Given the description of an element on the screen output the (x, y) to click on. 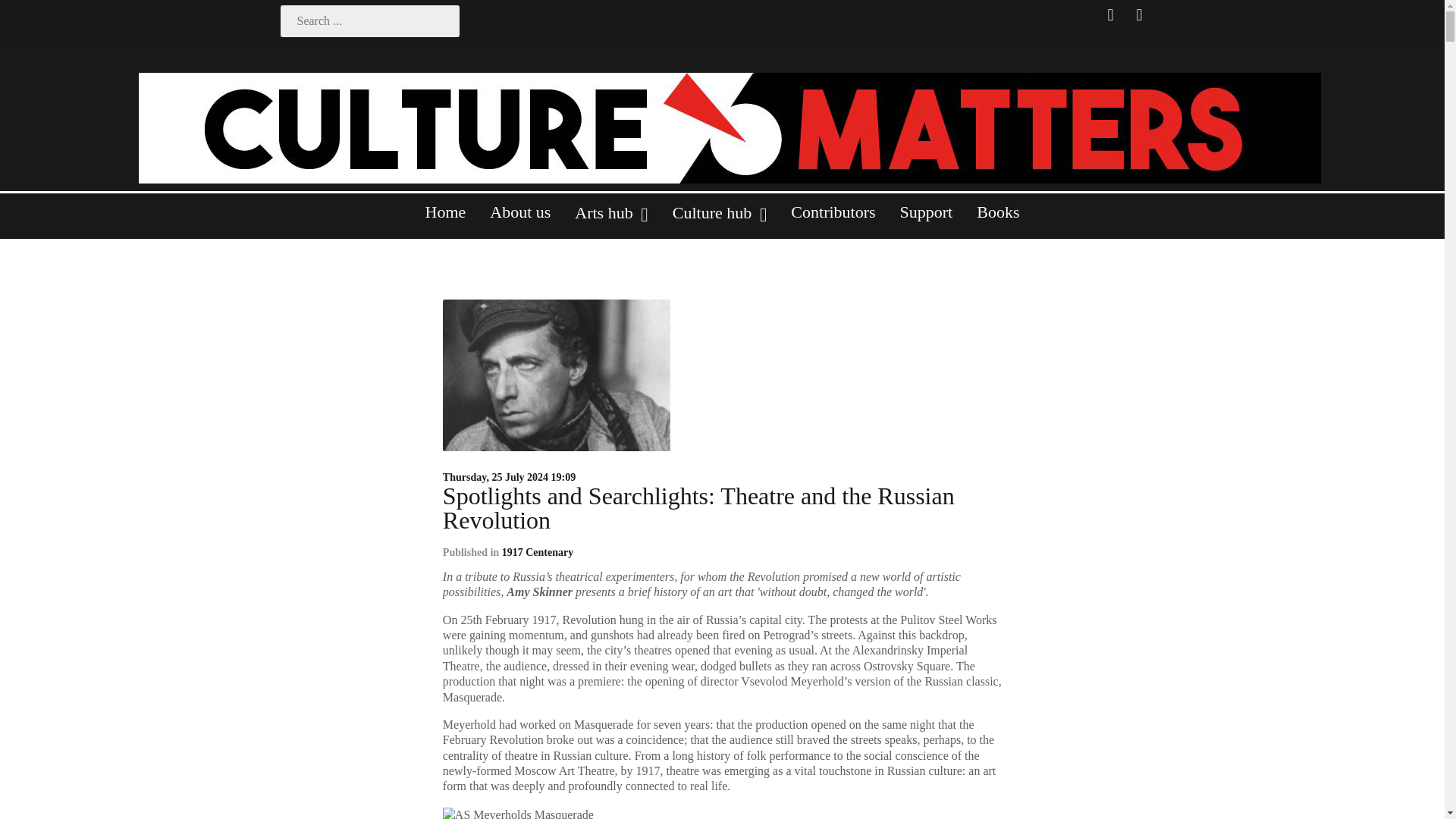
Home (446, 218)
About us (519, 218)
Culture hub (719, 219)
Arts hub (610, 219)
